Given the description of an element on the screen output the (x, y) to click on. 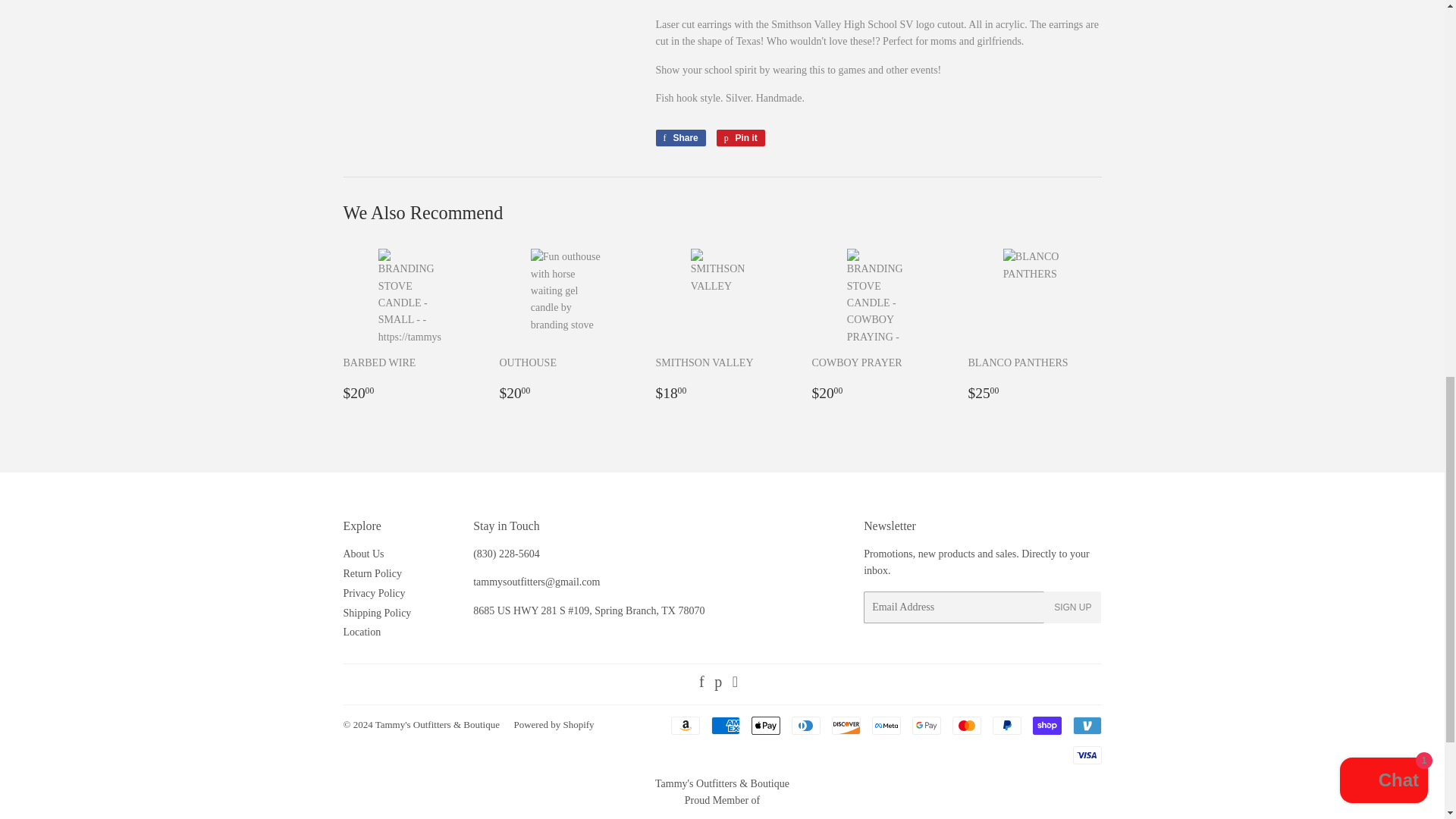
Amazon (683, 725)
Google Pay (925, 725)
Visa (1085, 755)
Venmo (1085, 725)
Bulverde Spring Branch Area Chamber of Commerce (721, 814)
Apple Pay (764, 725)
Discover (845, 725)
American Express (725, 725)
Meta Pay (886, 725)
Pin on Pinterest (740, 137)
Diners Club (806, 725)
PayPal (1005, 725)
Share on Facebook (679, 137)
Mastercard (966, 725)
Shop Pay (1046, 725)
